Given the description of an element on the screen output the (x, y) to click on. 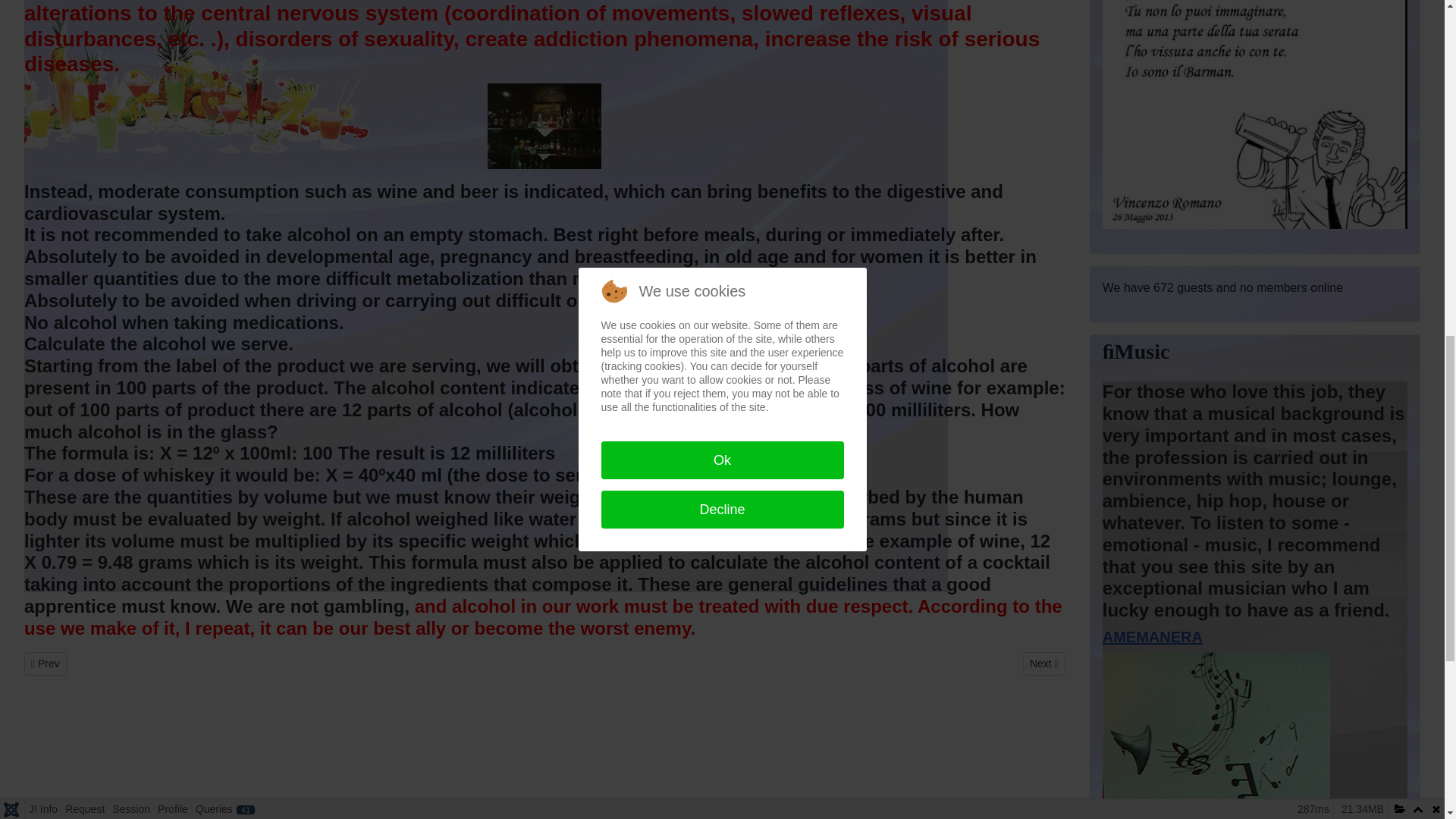
AMEMANERA (1152, 636)
